Given the description of an element on the screen output the (x, y) to click on. 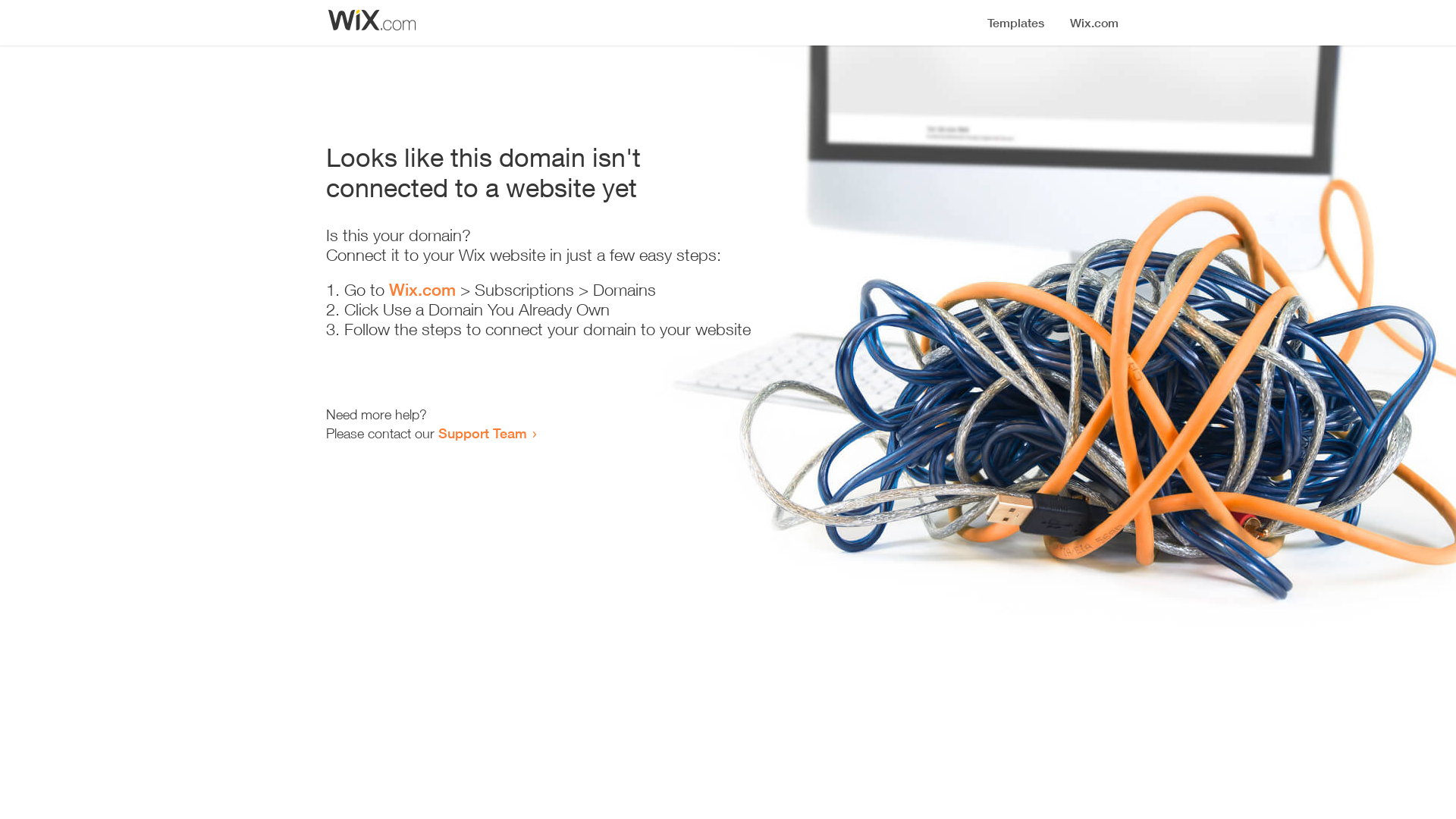
Wix.com Element type: text (422, 289)
Support Team Element type: text (482, 432)
